Given the description of an element on the screen output the (x, y) to click on. 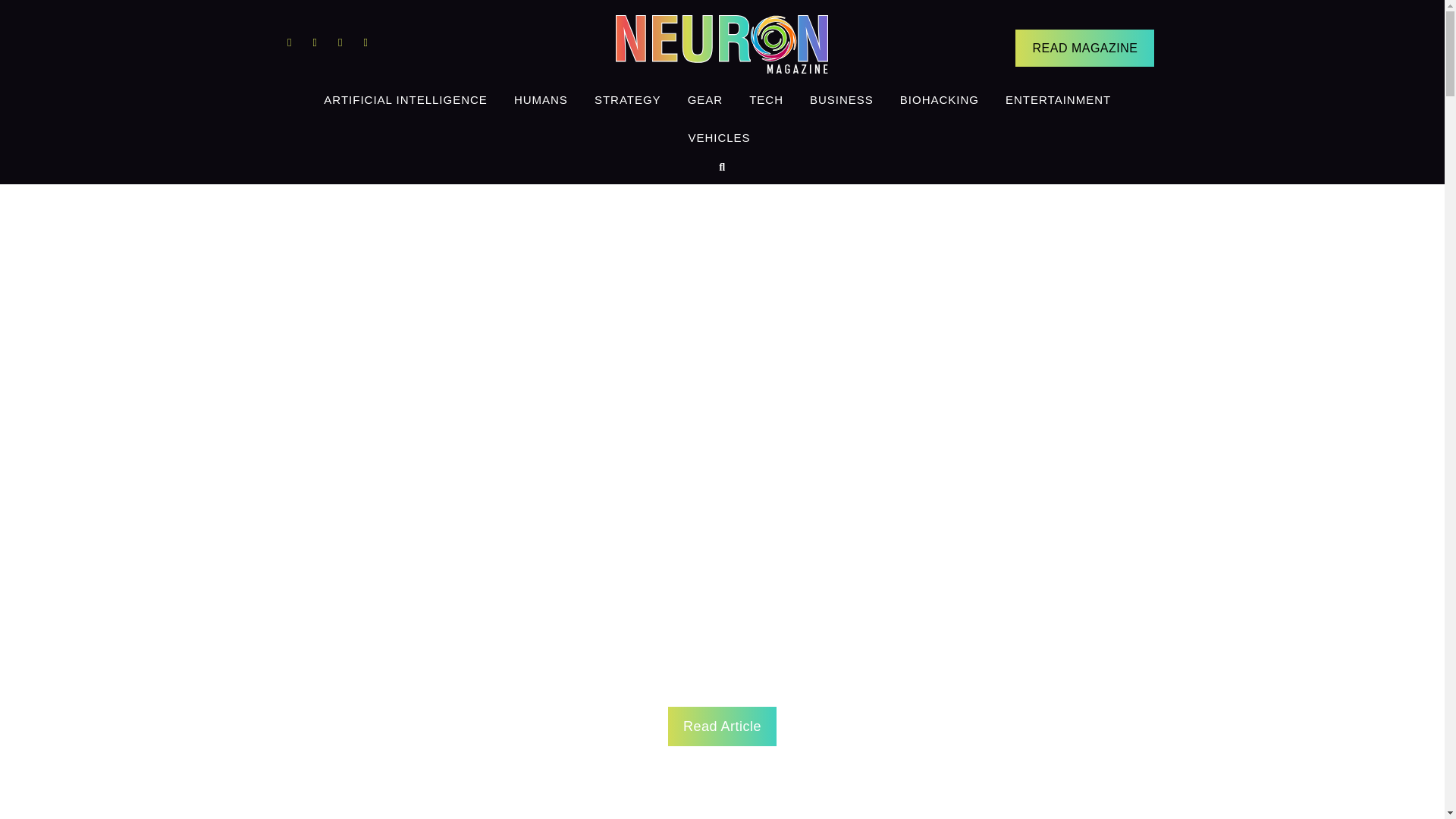
READ MAGAZINE (1084, 47)
HUMANS (540, 99)
BIOHACKING (939, 99)
VEHICLES (719, 137)
ENTERTAINMENT (1058, 99)
TECH (766, 99)
ARTIFICIAL INTELLIGENCE (406, 99)
BUSINESS (841, 99)
GEAR (706, 99)
STRATEGY (627, 99)
